Given the description of an element on the screen output the (x, y) to click on. 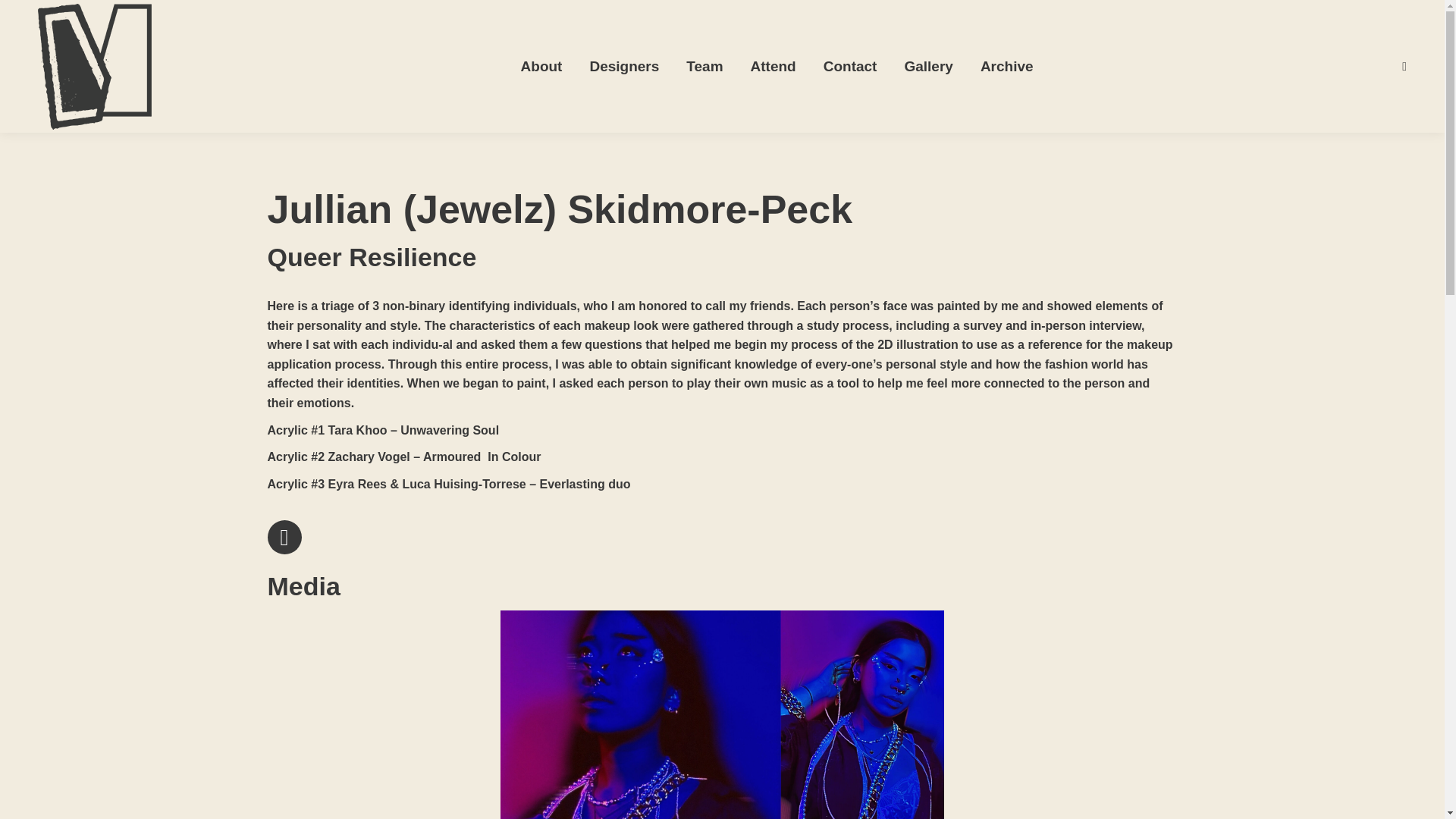
Go! (24, 16)
Instagram (283, 537)
